Given the description of an element on the screen output the (x, y) to click on. 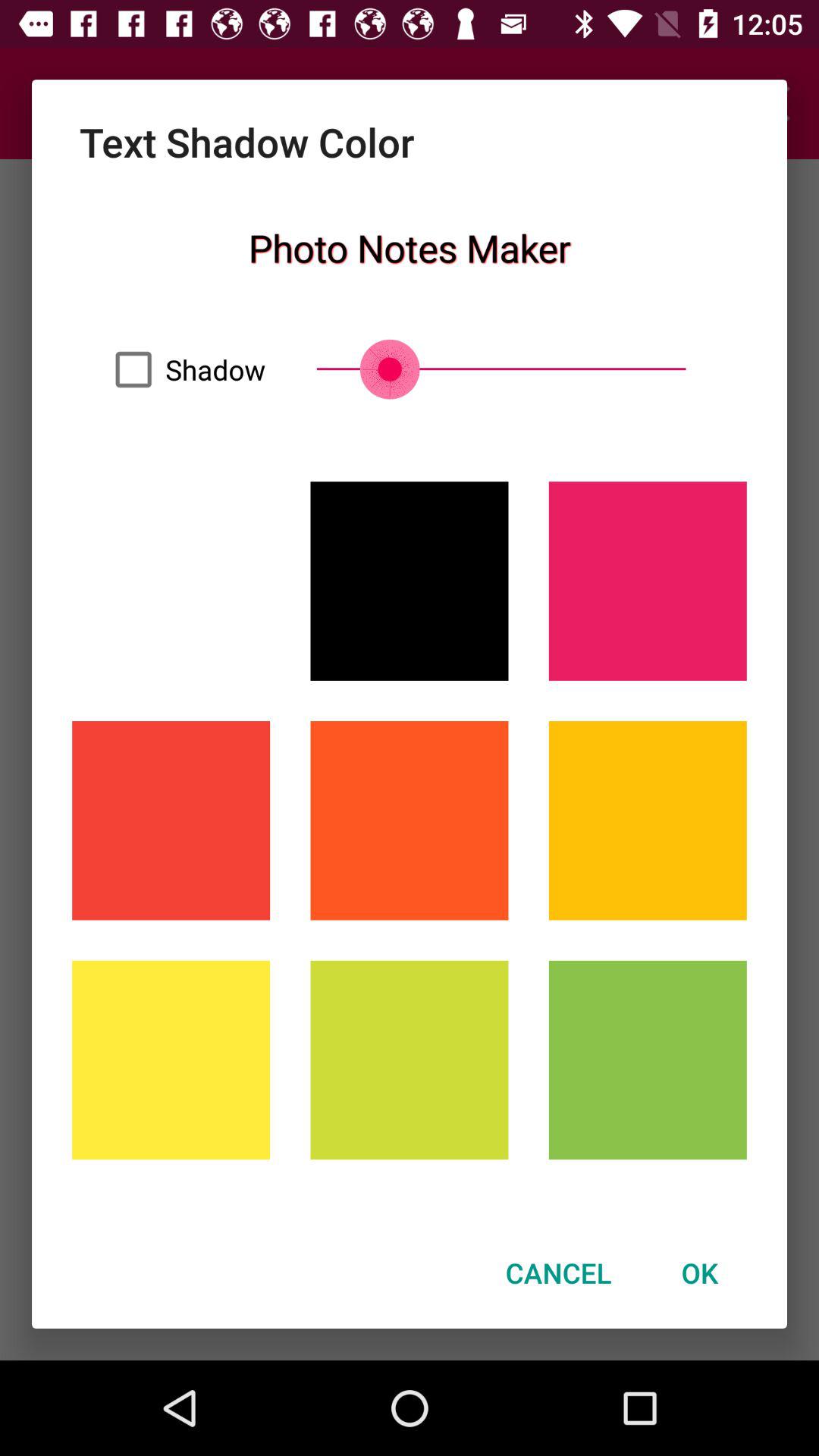
press item to the right of cancel item (699, 1272)
